Given the description of an element on the screen output the (x, y) to click on. 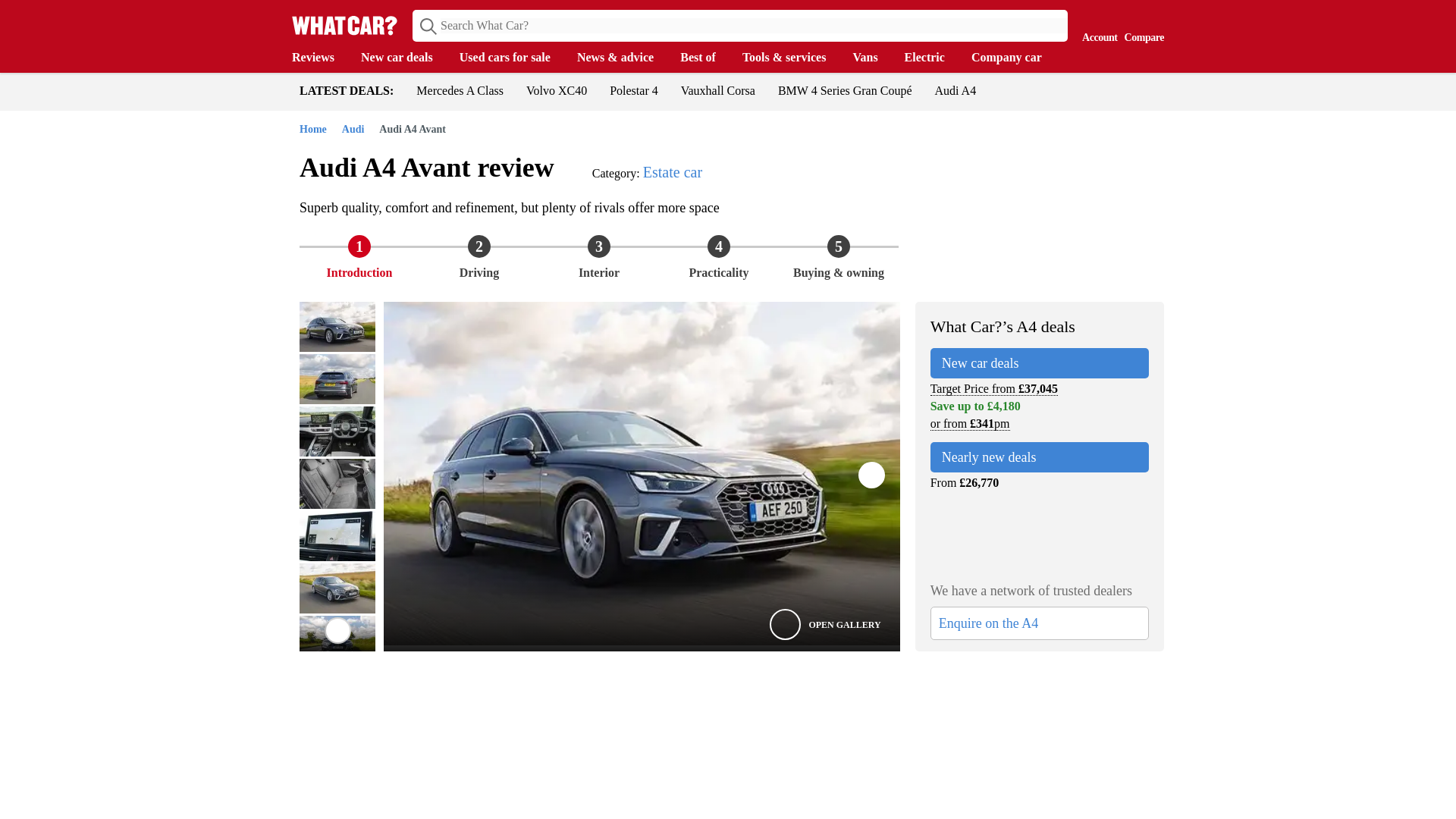
Reviews (320, 57)
Vans (871, 57)
Electric (931, 57)
New car deals (404, 57)
WhatCar? logo (344, 25)
Used cars for sale (513, 57)
Compare (1140, 24)
Account (1095, 24)
Company car (1014, 57)
Best of (704, 57)
